Given the description of an element on the screen output the (x, y) to click on. 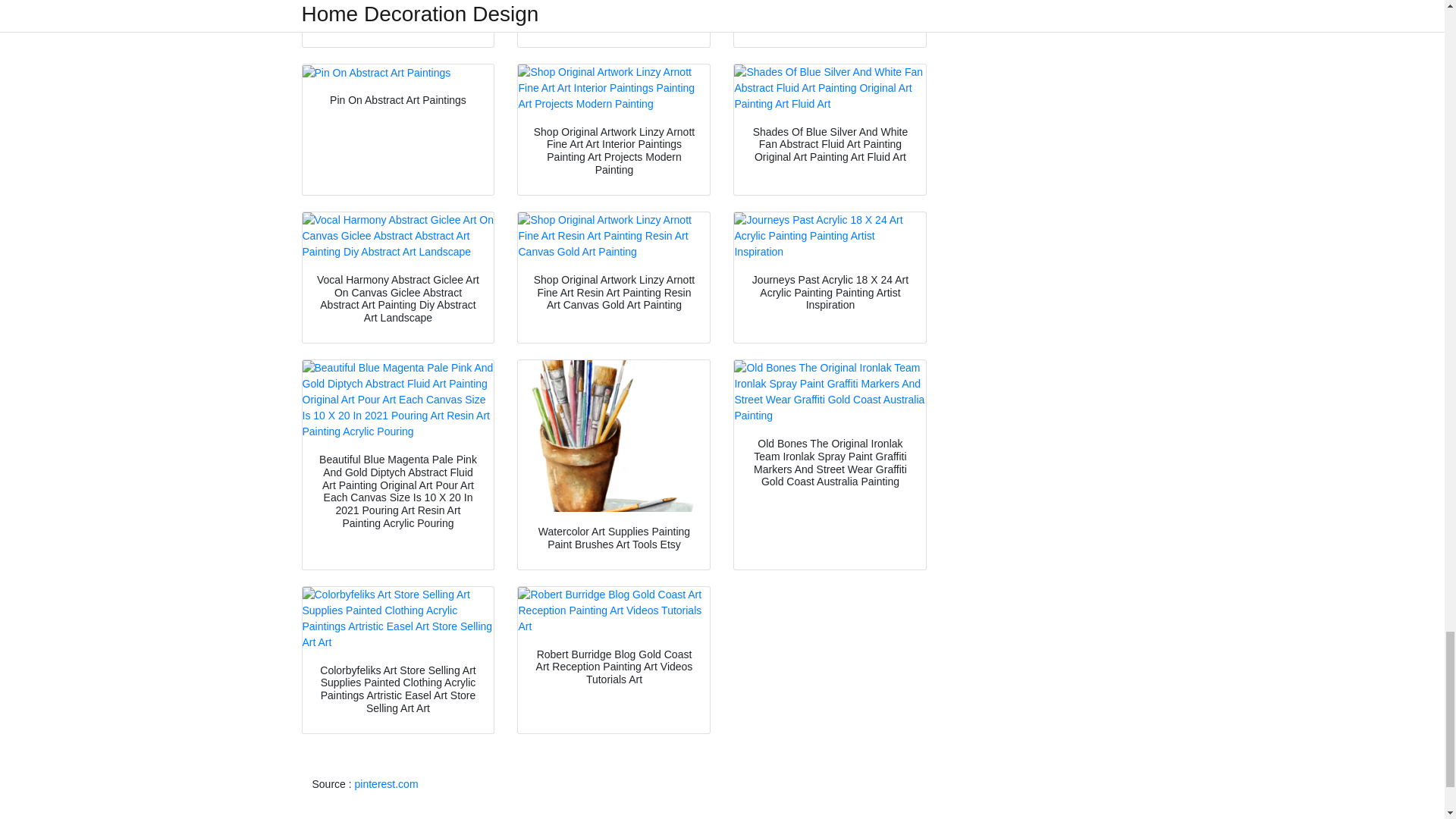
pinterest.com (387, 784)
